Given the description of an element on the screen output the (x, y) to click on. 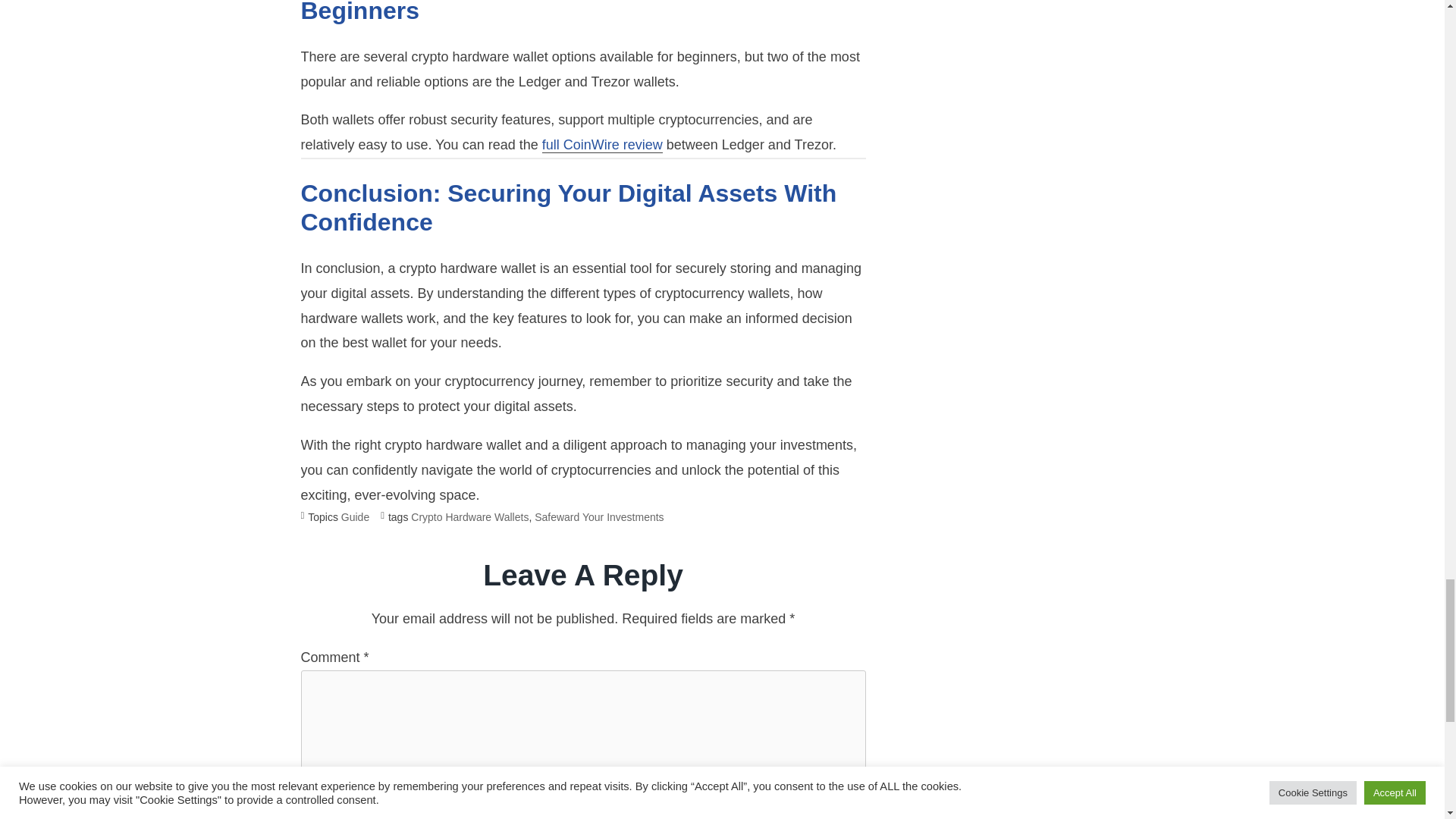
Crypto Hardware Wallets (469, 517)
Safeward Your Investments (598, 517)
full CoinWire review (601, 145)
Guide (354, 517)
